Given the description of an element on the screen output the (x, y) to click on. 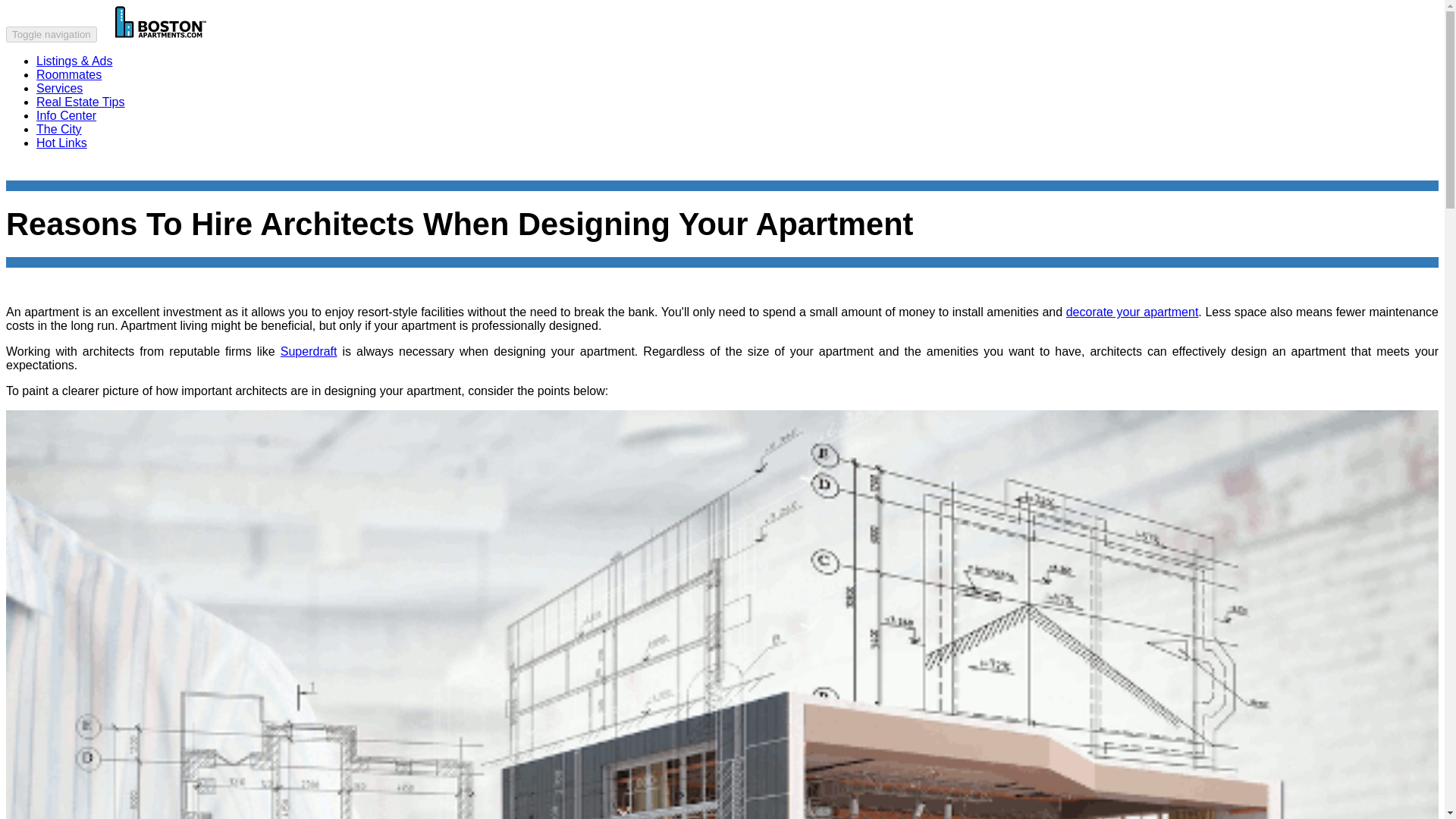
The City (58, 119)
Info Center (66, 106)
Roommates (68, 65)
Hot Links (61, 133)
Real Estate Tips (80, 92)
Services (59, 79)
Superdraft (309, 350)
Toggle navigation (51, 34)
decorate your apartment (1131, 311)
